Given the description of an element on the screen output the (x, y) to click on. 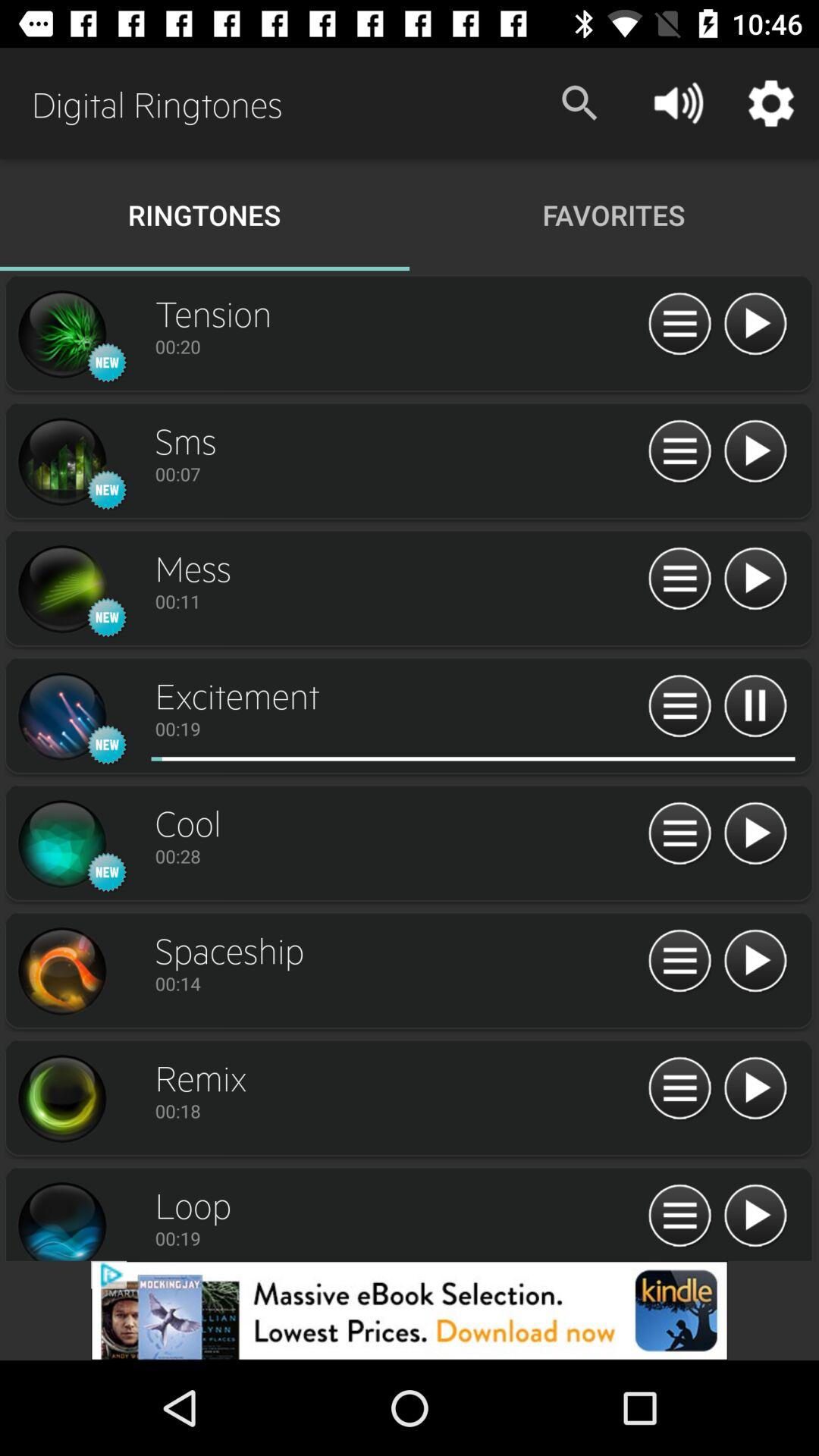
off button (755, 451)
